Given the description of an element on the screen output the (x, y) to click on. 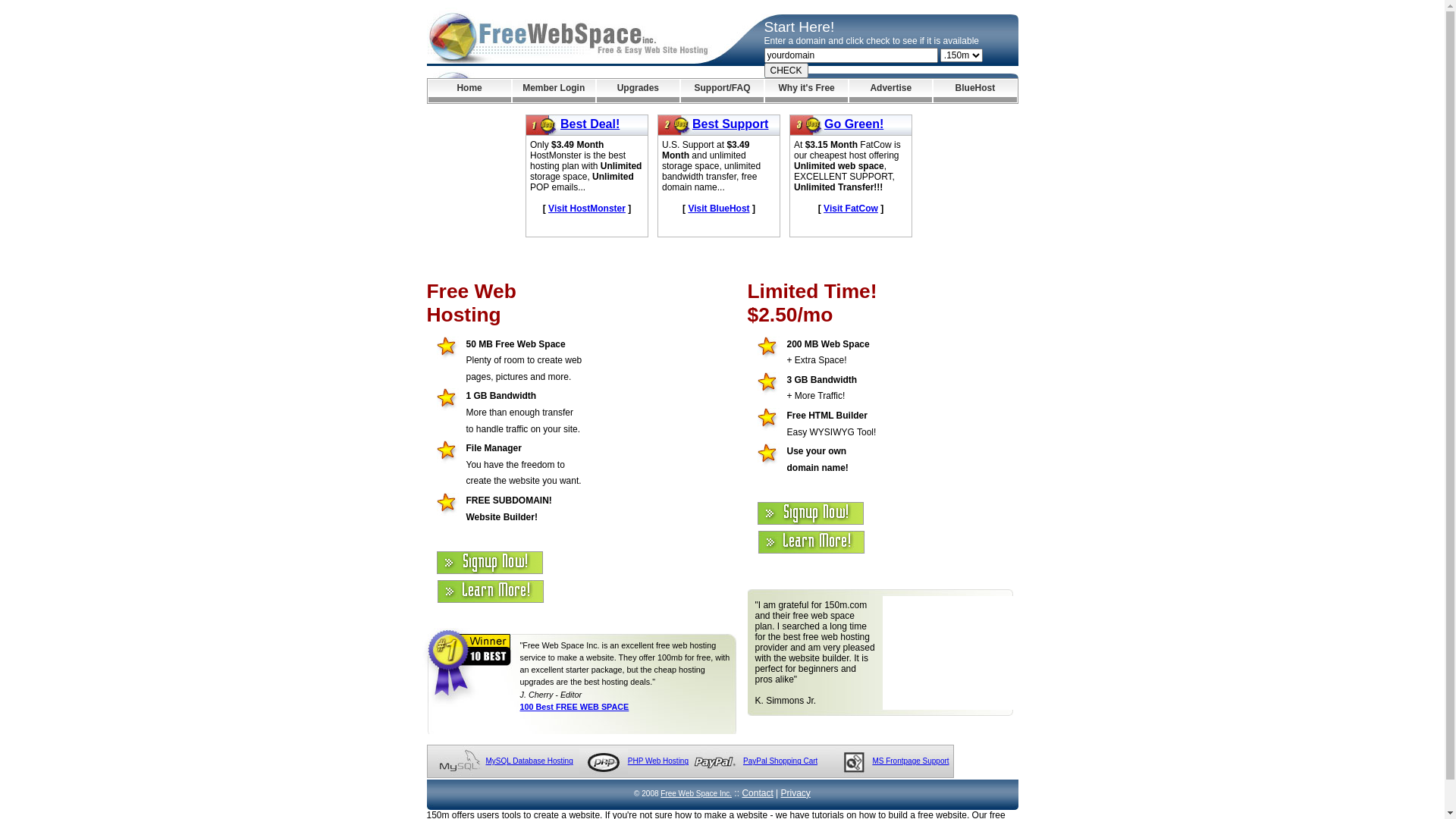
Upgrades Element type: text (637, 90)
Privacy Element type: text (795, 792)
Why it's Free Element type: text (806, 90)
Advertise Element type: text (890, 90)
Free Web Space Inc. Element type: text (695, 793)
Contact Element type: text (756, 792)
PHP Web Hosting Element type: text (657, 760)
Member Login Element type: text (553, 90)
MySQL Database Hosting Element type: text (528, 760)
Home Element type: text (468, 90)
PayPal Shopping Cart Element type: text (780, 760)
BlueHost Element type: text (974, 90)
Support/FAQ Element type: text (721, 90)
MS Frontpage Support Element type: text (910, 760)
100 Best FREE WEB SPACE Element type: text (574, 706)
CHECK Element type: text (786, 70)
